Given the description of an element on the screen output the (x, y) to click on. 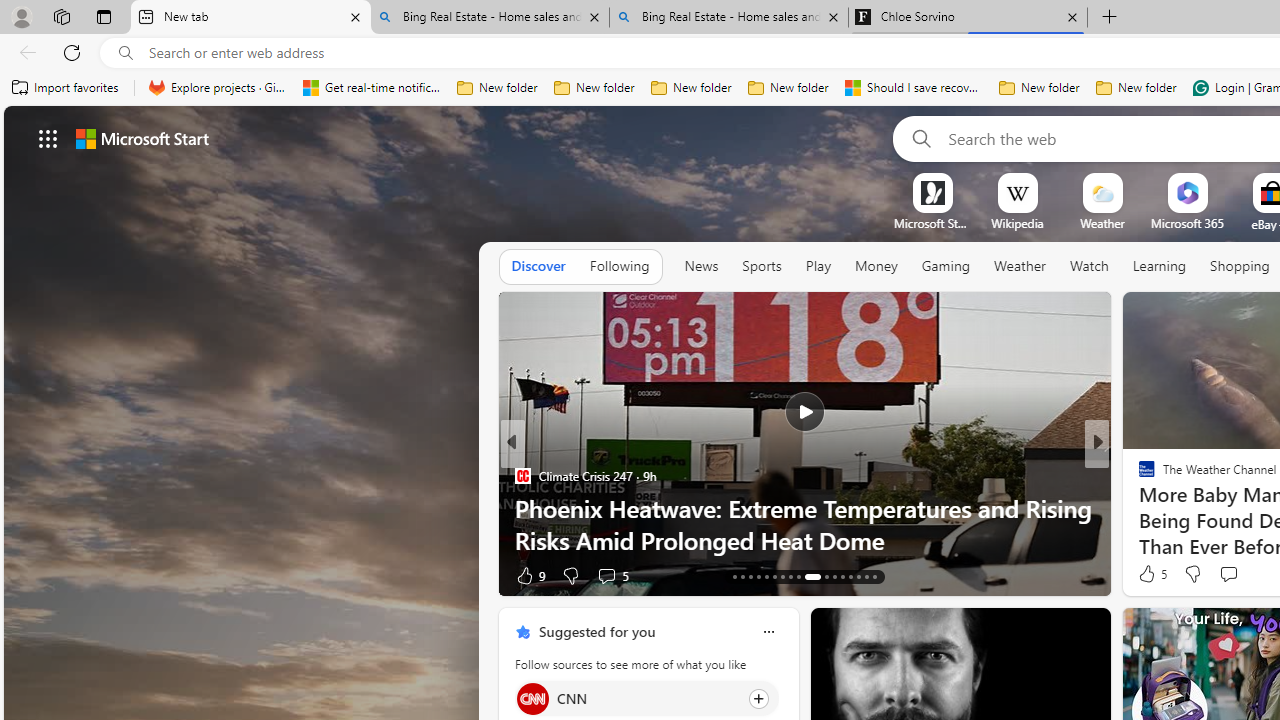
View comments 58 Comment (11, 575)
View comments 5 Comment (1234, 575)
17 Like (1149, 574)
AutomationID: tab-17 (765, 576)
Bing Real Estate - Home sales and rental listings (729, 17)
The Verge (1138, 475)
269 Like (1151, 574)
View comments 2 Comment (1229, 575)
View comments 19 Comment (1234, 575)
Click to follow source CNN (646, 698)
New folder (1136, 88)
16 Like (1149, 574)
5 Like (1151, 574)
